Given the description of an element on the screen output the (x, y) to click on. 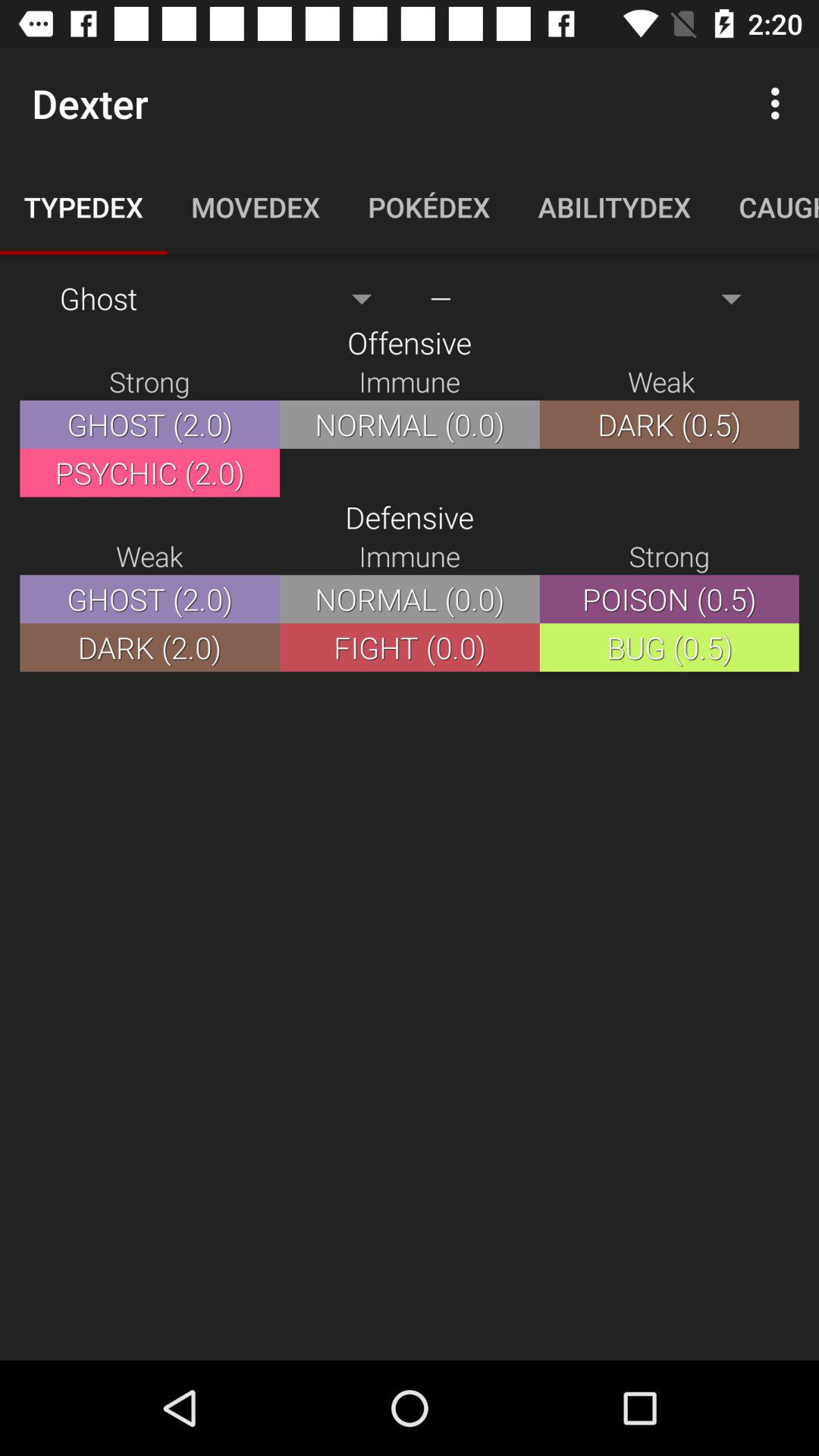
click ghost option above strong (224, 298)
